Given the description of an element on the screen output the (x, y) to click on. 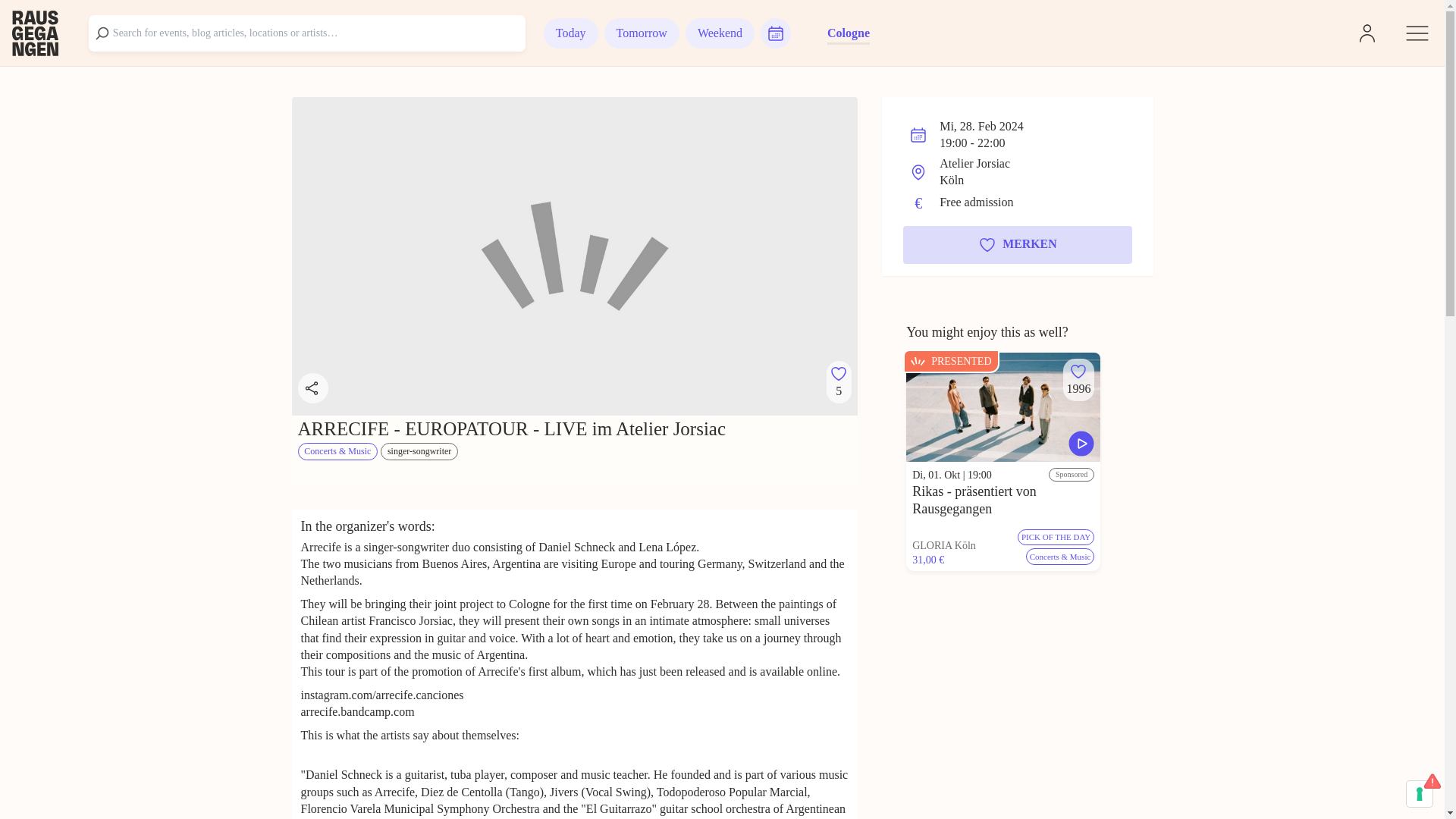
Today (570, 33)
Cologne (848, 33)
Tomorrow (641, 33)
Weekend (719, 33)
